Given the description of an element on the screen output the (x, y) to click on. 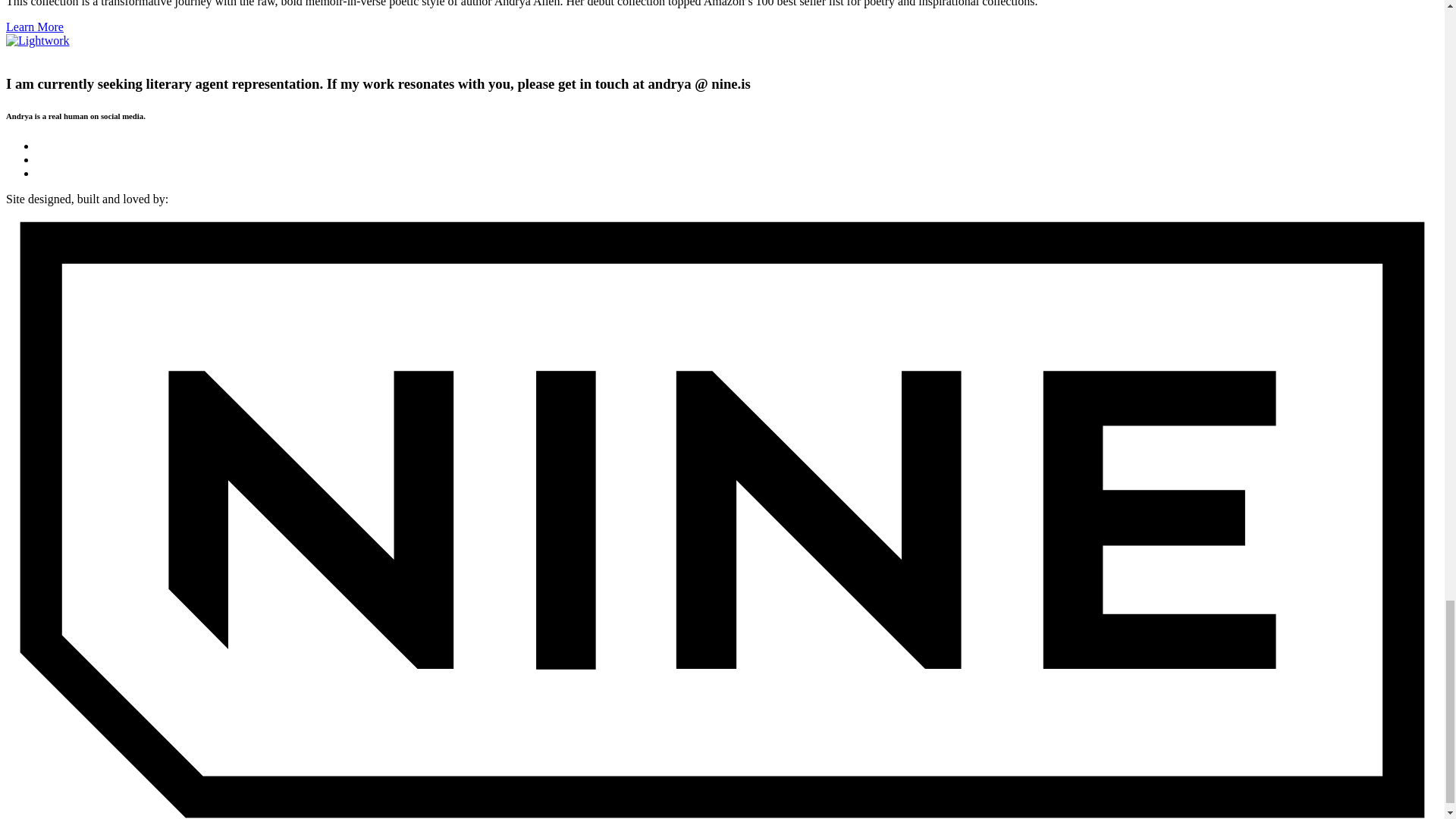
Learn More (34, 26)
